Given the description of an element on the screen output the (x, y) to click on. 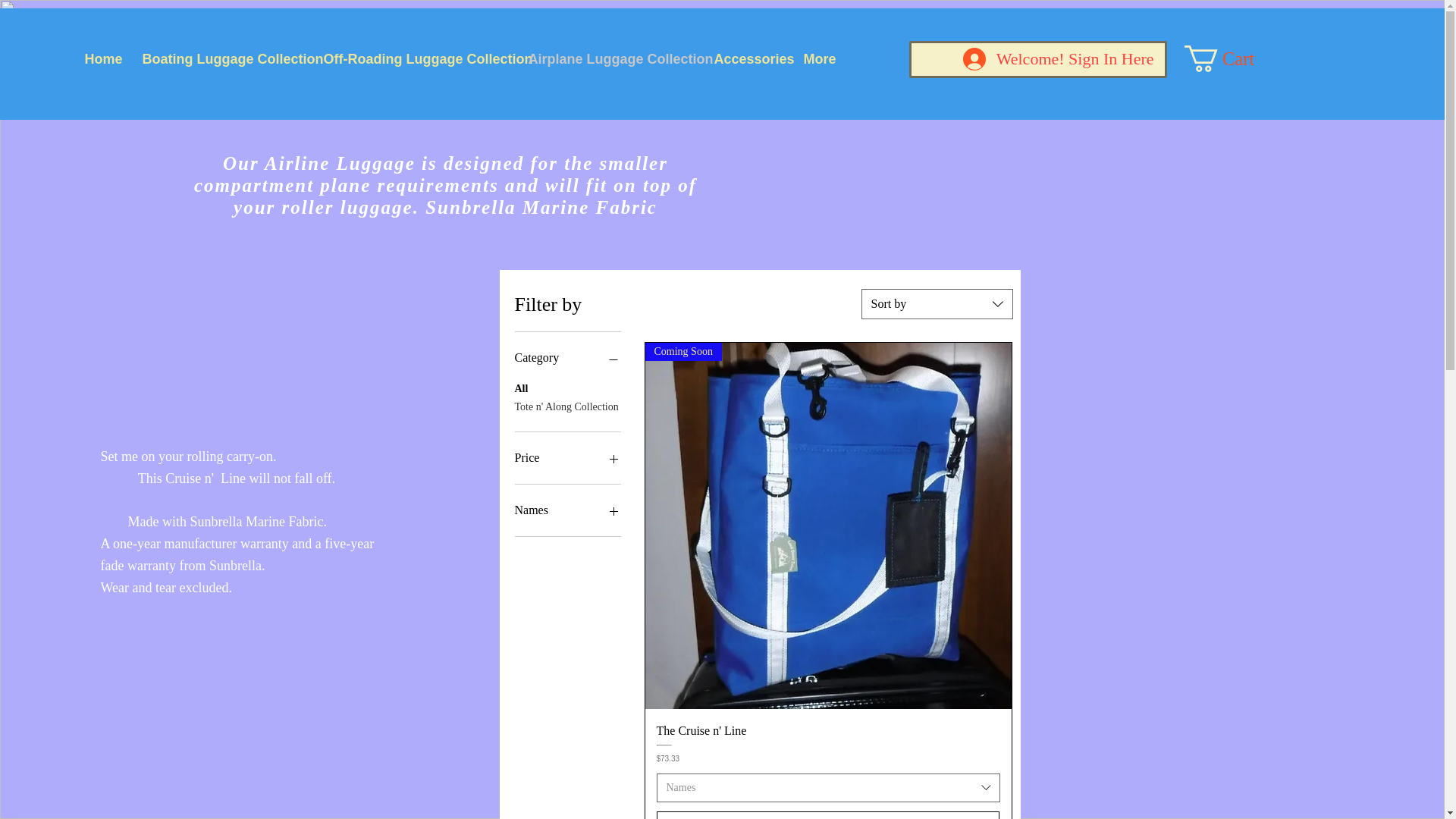
Airplane Luggage Collection (609, 58)
Home (101, 58)
Accessories (746, 58)
Coming Soon (827, 526)
Cart (1233, 58)
Sort by (937, 304)
Names (828, 787)
Boating Luggage Collection (221, 58)
Cart (1233, 58)
